Given the description of an element on the screen output the (x, y) to click on. 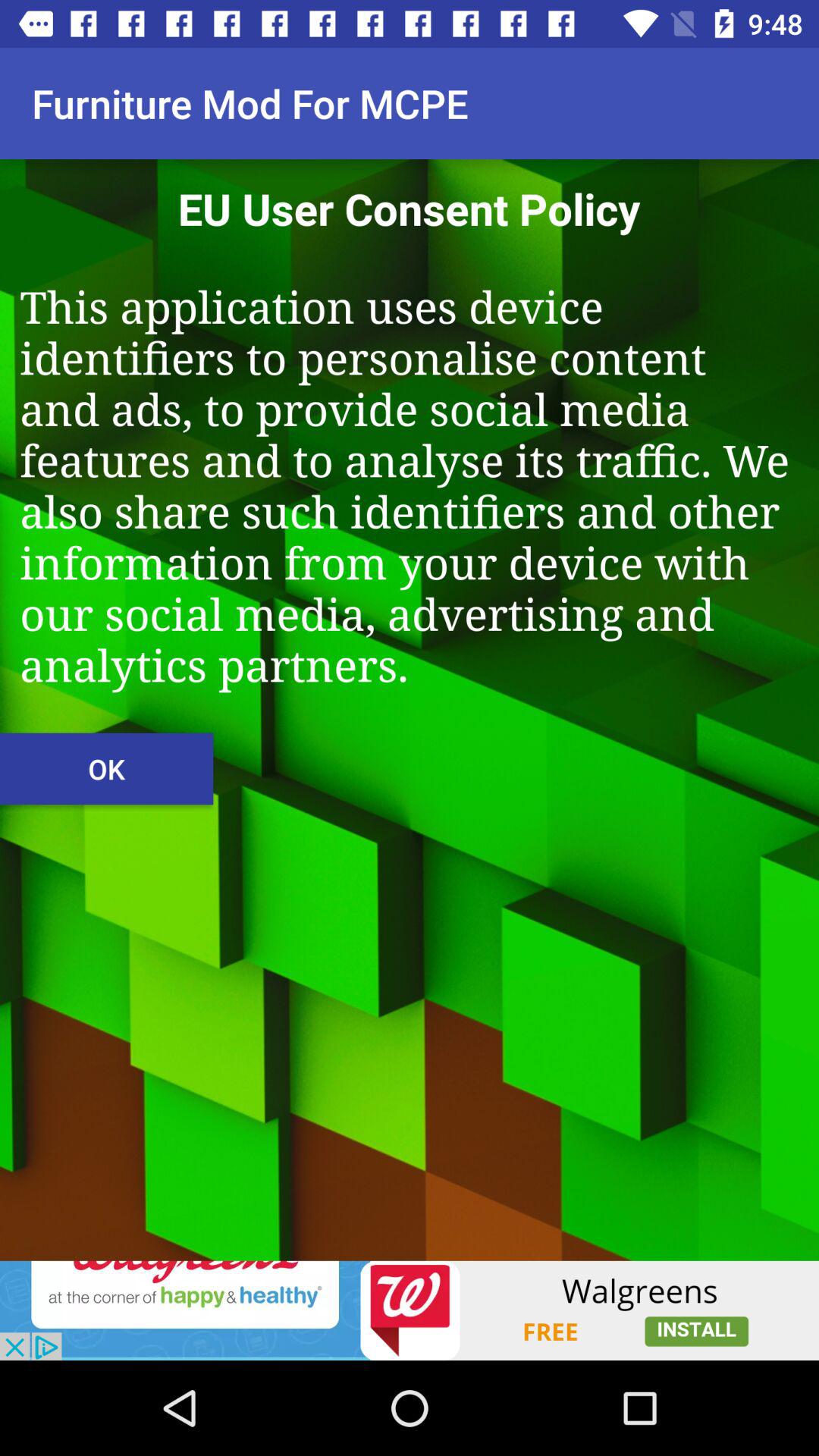
install sponsored app (409, 1310)
